Given the description of an element on the screen output the (x, y) to click on. 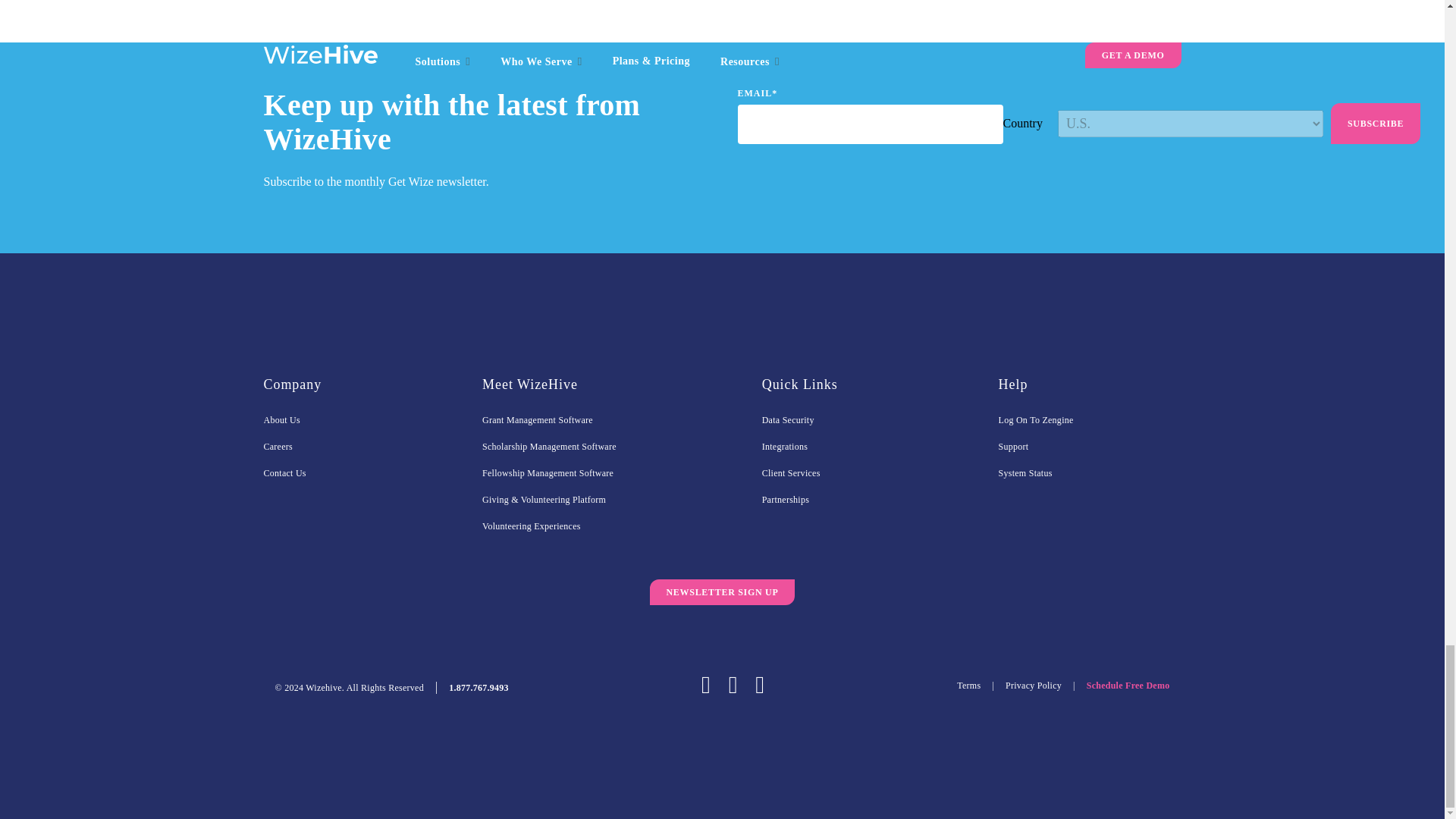
Subscribe (1375, 123)
Newsletter Sign Up (721, 592)
